Given the description of an element on the screen output the (x, y) to click on. 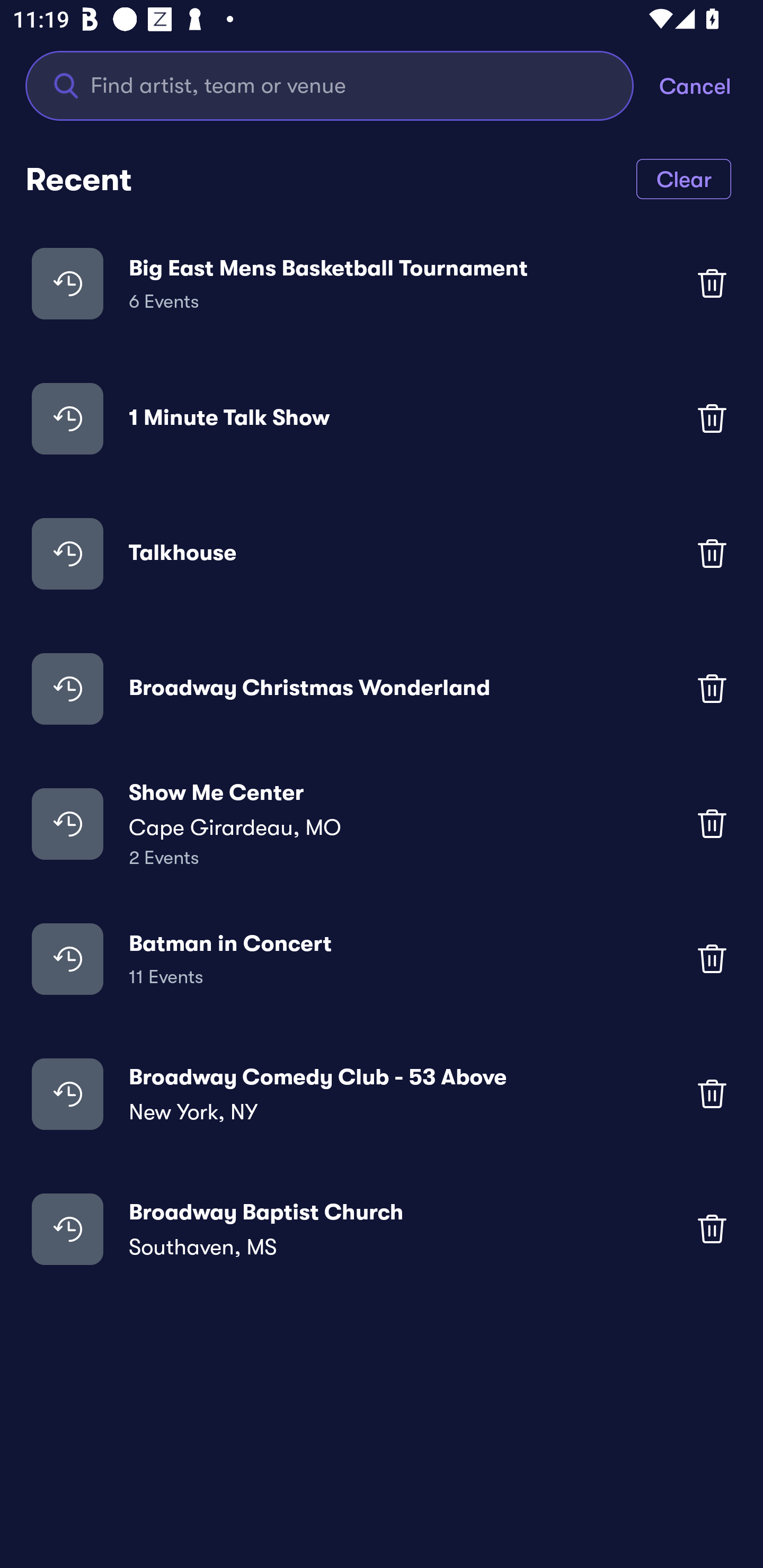
Cancel (711, 85)
Find artist, team or venue Find (329, 85)
Find artist, team or venue Find (341, 85)
Clear (683, 178)
Big East Mens Basketball Tournament 6 Events (381, 282)
1 Minute Talk Show (381, 417)
Talkhouse (381, 553)
Broadway Christmas Wonderland (381, 688)
Show Me Center Cape Girardeau, MO 2 Events (381, 823)
Batman in Concert 11 Events (381, 958)
Broadway Comedy Club - 53 Above New York, NY (381, 1093)
Broadway Baptist Church Southaven, MS (381, 1228)
